Given the description of an element on the screen output the (x, y) to click on. 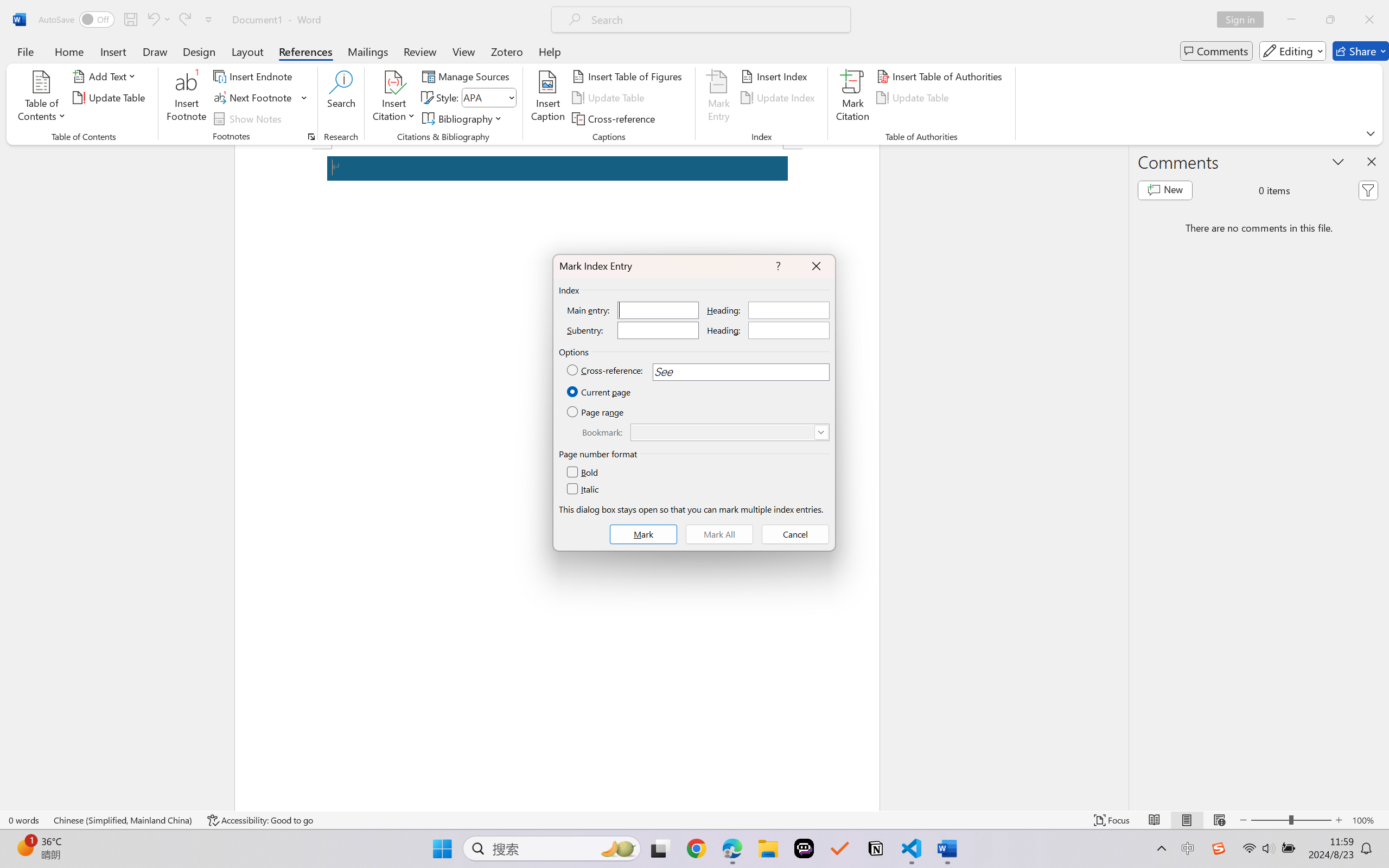
Cross-reference... (615, 118)
Insert Footnote (186, 97)
Current page (598, 392)
Page range (595, 411)
Insert Endnote (253, 75)
Redo Apply Quick Style (184, 19)
